Given the description of an element on the screen output the (x, y) to click on. 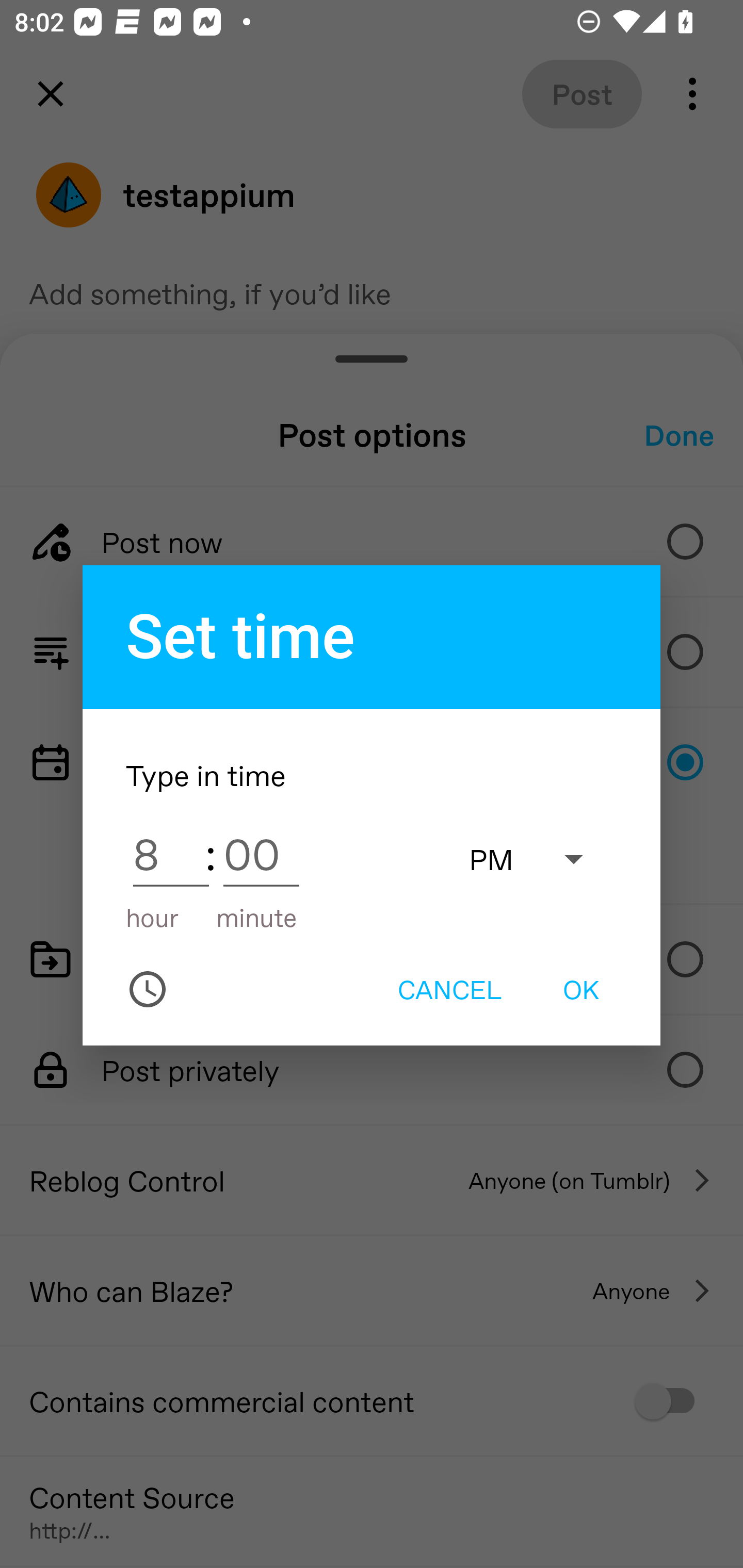
8 (170, 853)
00 (261, 853)
PM (535, 858)
CANCEL (449, 989)
OK (580, 989)
Switch to clock mode for the time input. (147, 989)
